Given the description of an element on the screen output the (x, y) to click on. 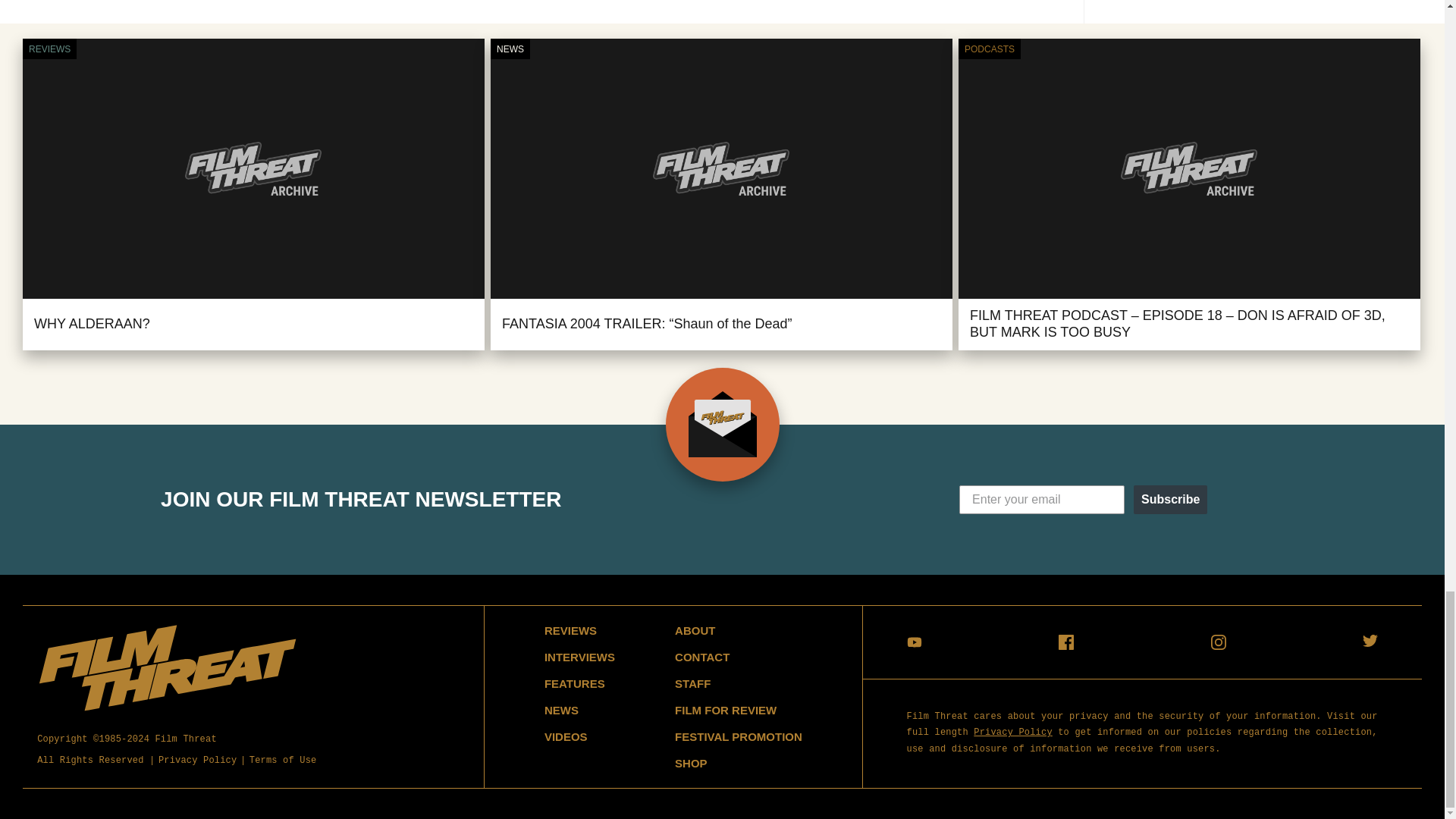
News (510, 49)
REVIEWS (49, 49)
Reviews (49, 49)
Podcasts (988, 49)
